Given the description of an element on the screen output the (x, y) to click on. 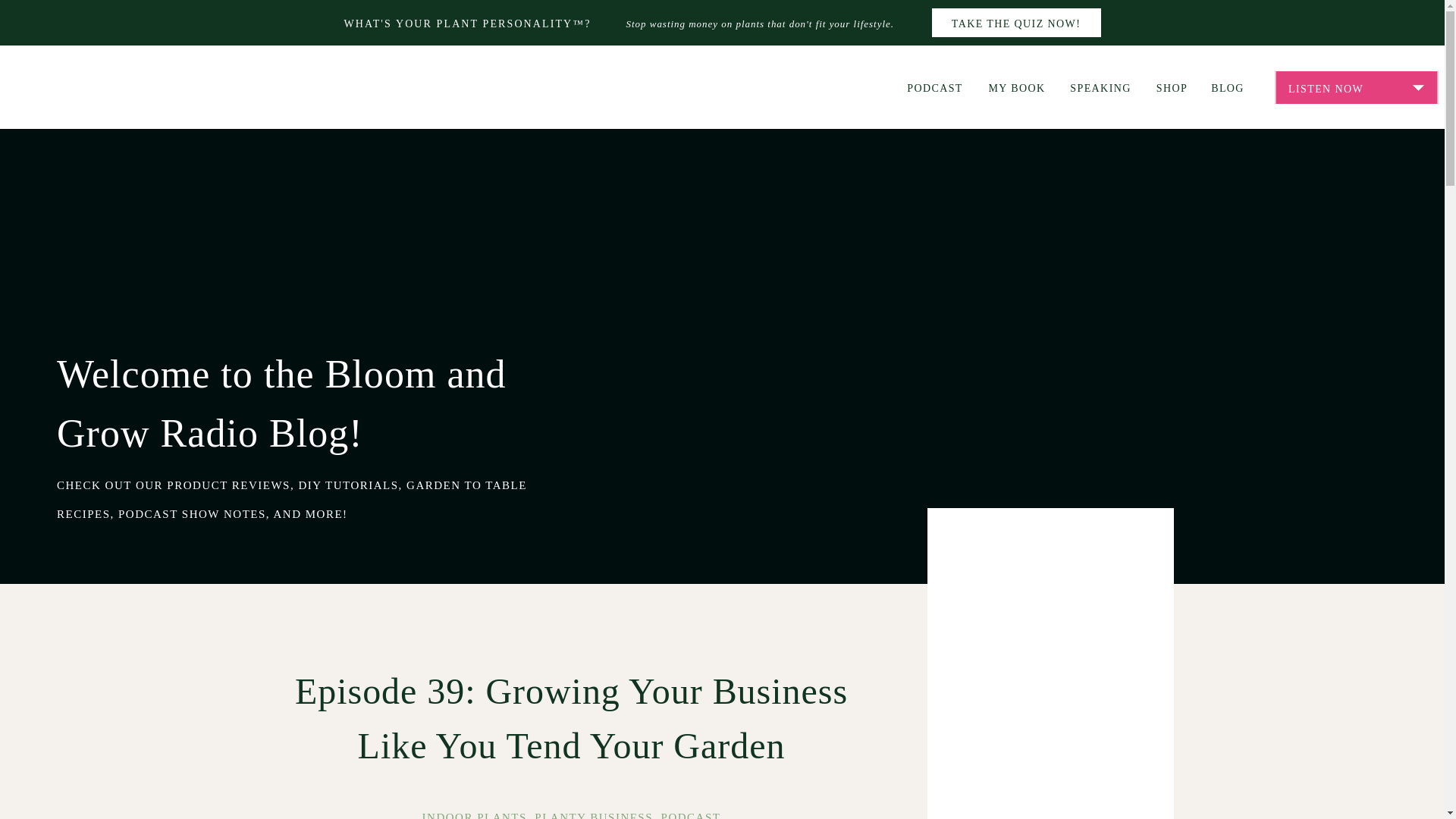
BLOG (1227, 86)
TAKE THE QUIZ NOW! (1016, 22)
LISTEN NOW (1355, 87)
PODCAST (934, 86)
MY BOOK (1016, 86)
PLANTY BUSINESS (593, 815)
Stop wasting money on plants that don't fit your lifestyle. (770, 23)
SHOP (1172, 86)
INDOOR PLANTS (474, 815)
PODCAST (690, 815)
SPEAKING (1100, 86)
